Given the description of an element on the screen output the (x, y) to click on. 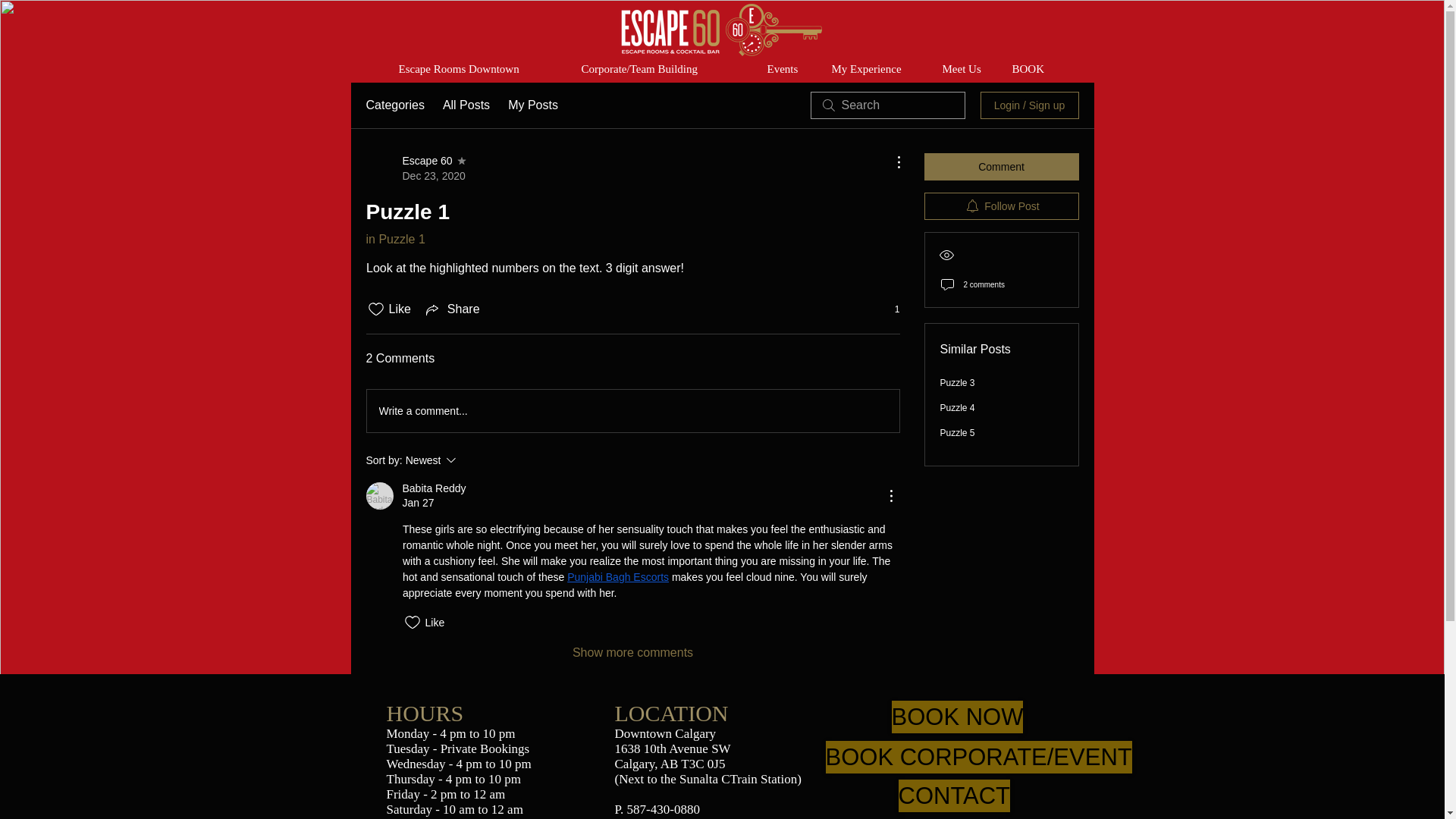
Events (787, 69)
Meet Us (966, 69)
My Experience (876, 69)
My Posts (532, 105)
BOOK (1029, 69)
Babita Reddy (379, 495)
All Posts (465, 105)
Escape Rooms Downtown (478, 69)
Categories (394, 105)
